Given the description of an element on the screen output the (x, y) to click on. 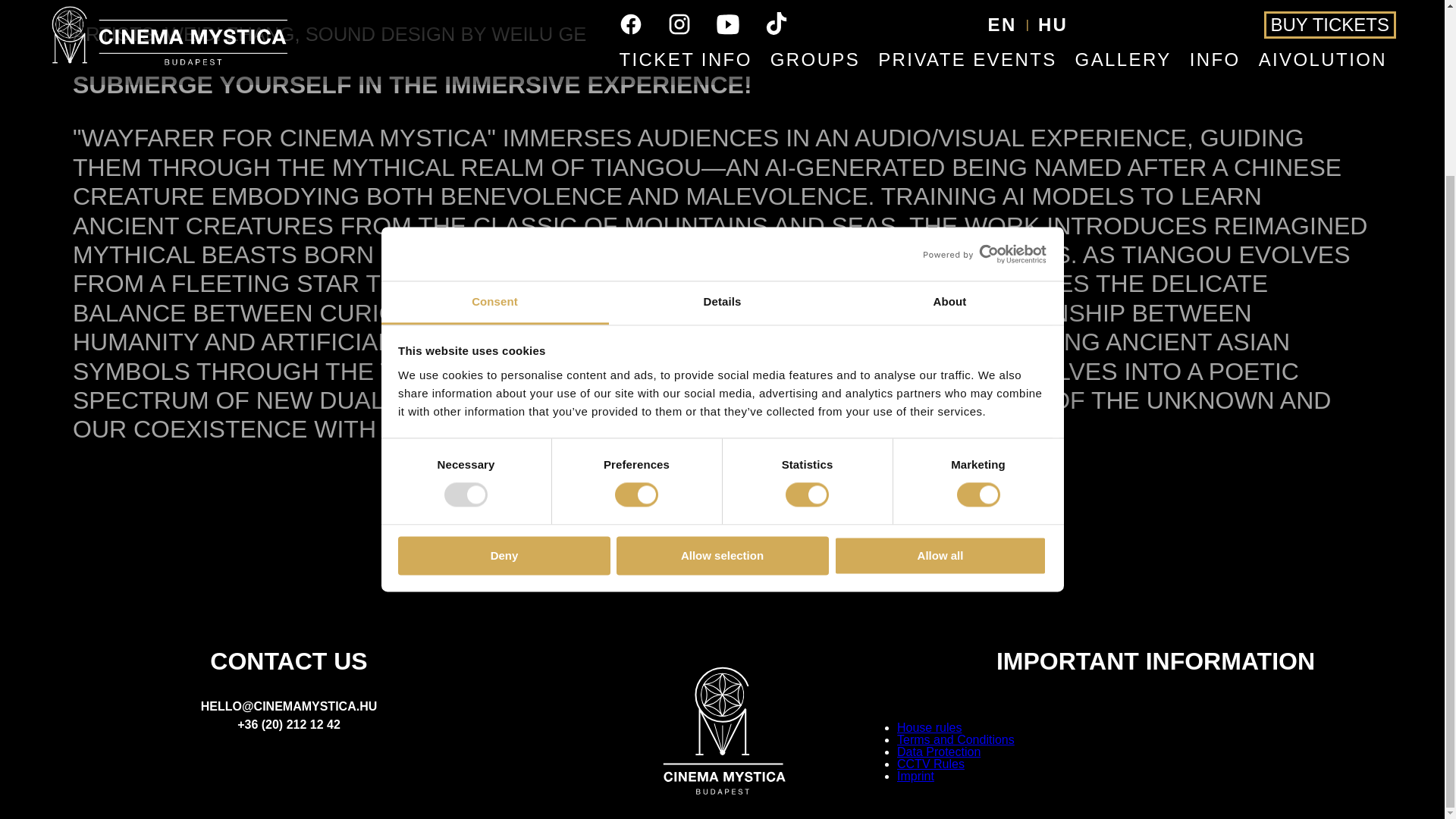
Deny (503, 341)
Allow all (940, 341)
About (948, 88)
Details (721, 88)
Allow selection (721, 341)
Consent (494, 88)
